Given the description of an element on the screen output the (x, y) to click on. 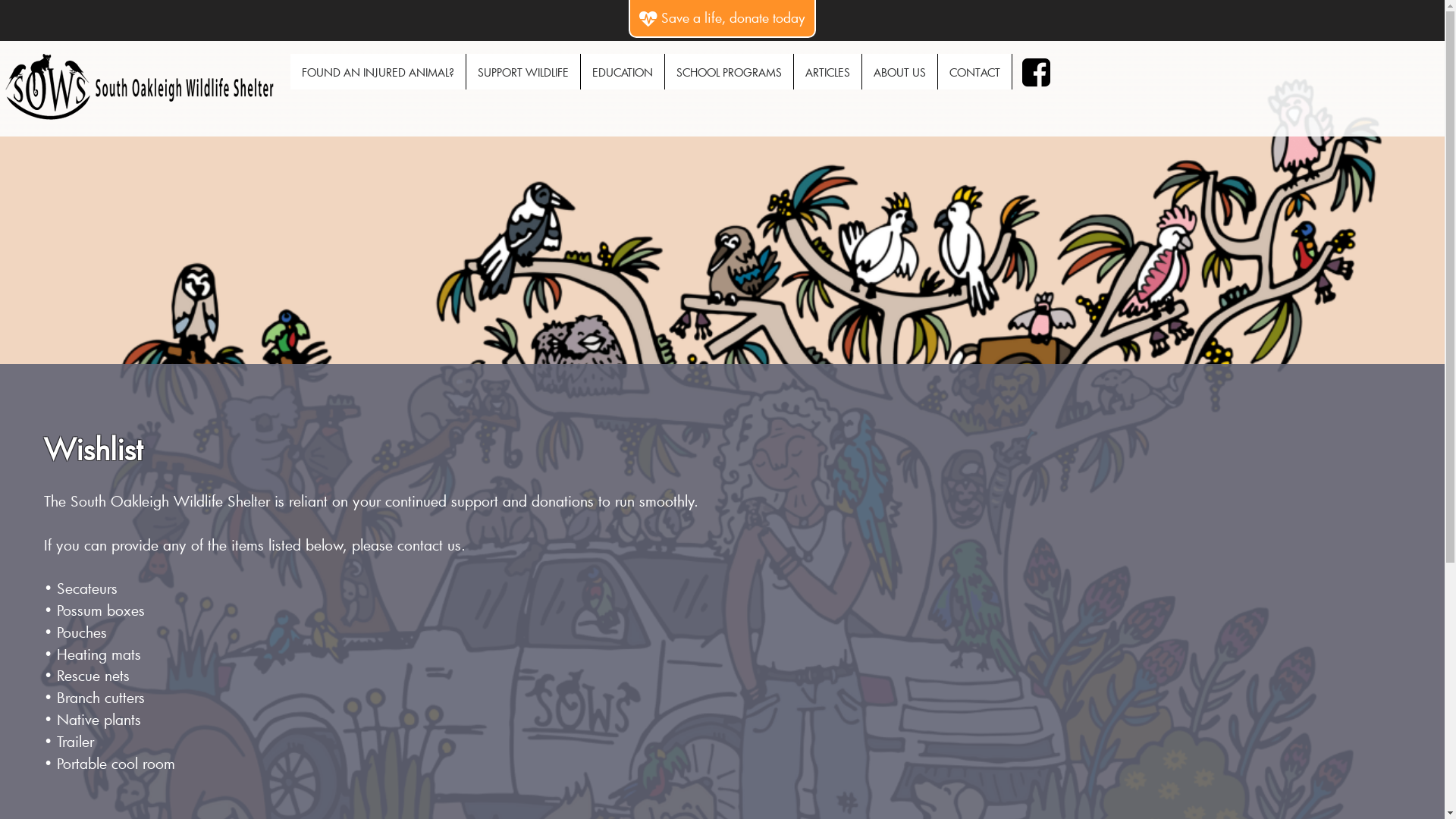
SUPPORT WILDLIFE Element type: text (523, 71)
Save a life, donate today Element type: text (722, 17)
ARTICLES Element type: text (827, 71)
CONTACT Element type: text (974, 71)
FOUND AN INJURED ANIMAL? Element type: text (377, 71)
ABOUT US Element type: text (899, 71)
SCHOOL PROGRAMS Element type: text (729, 71)
EDUCATION Element type: text (622, 71)
